Given the description of an element on the screen output the (x, y) to click on. 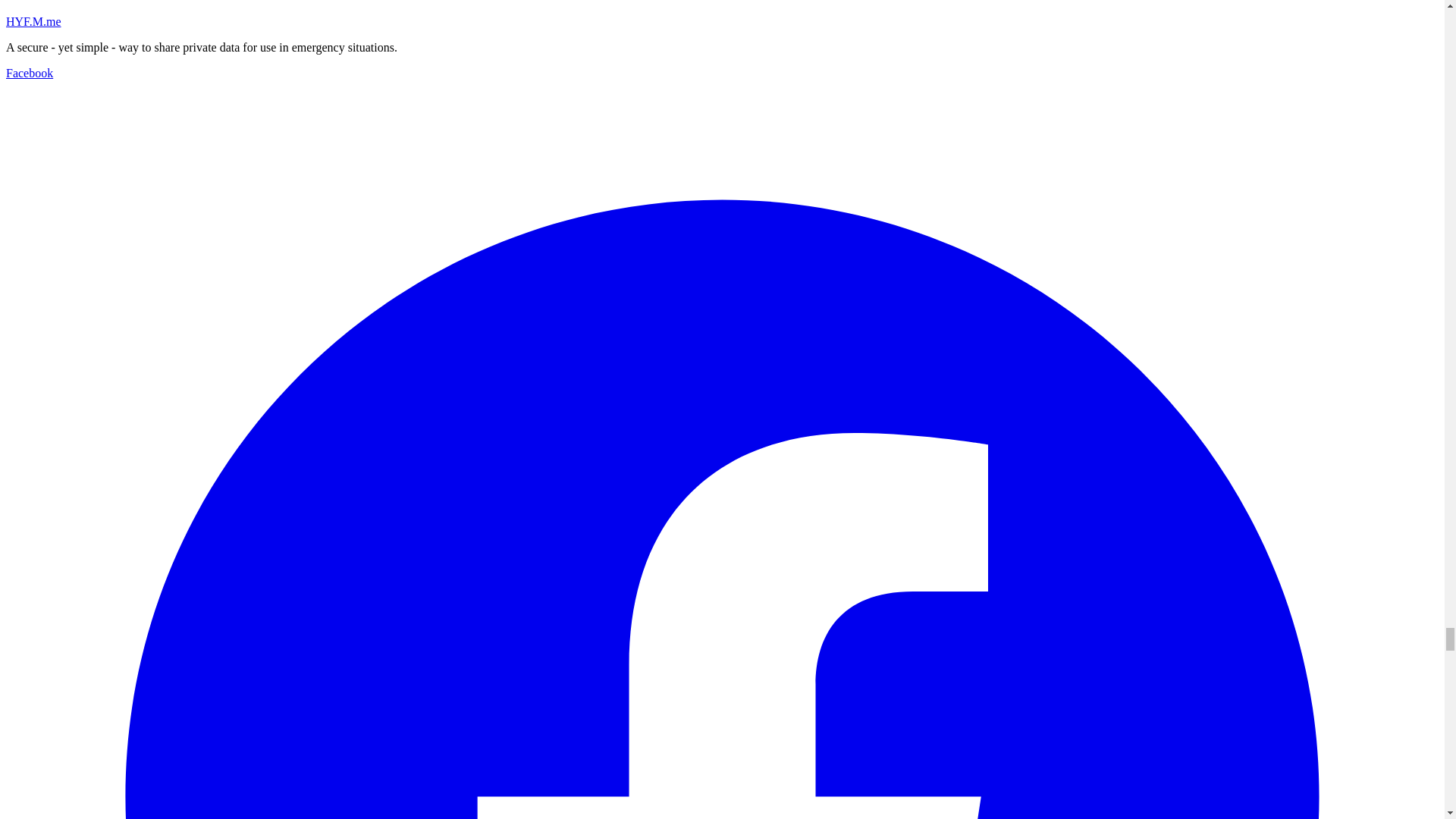
HYF.M.me (33, 21)
